Given the description of an element on the screen output the (x, y) to click on. 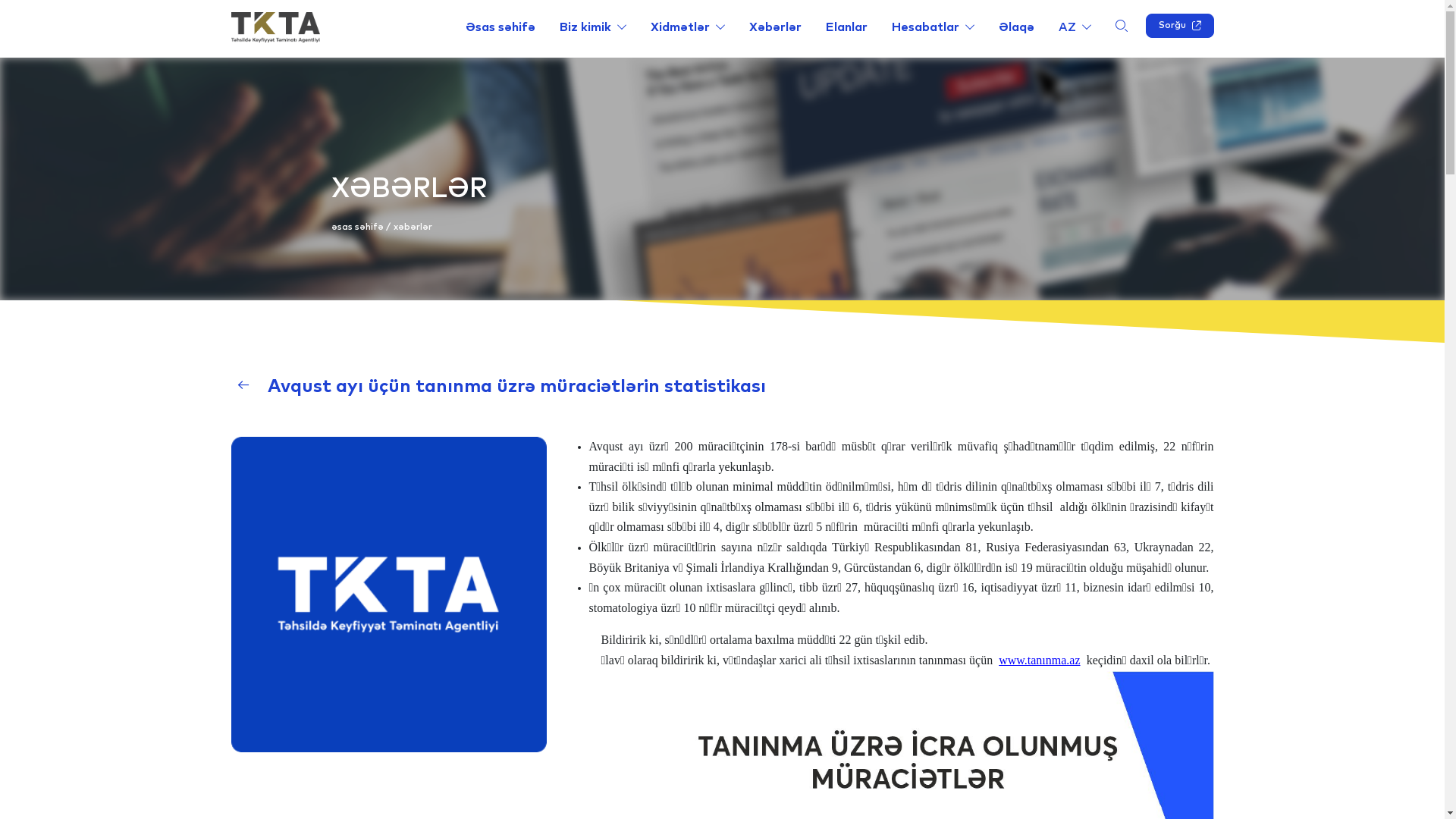
Elanlar Element type: text (845, 26)
AZ Element type: text (1074, 26)
Hesabatlar Element type: text (932, 26)
Biz kimik Element type: text (592, 26)
